Given the description of an element on the screen output the (x, y) to click on. 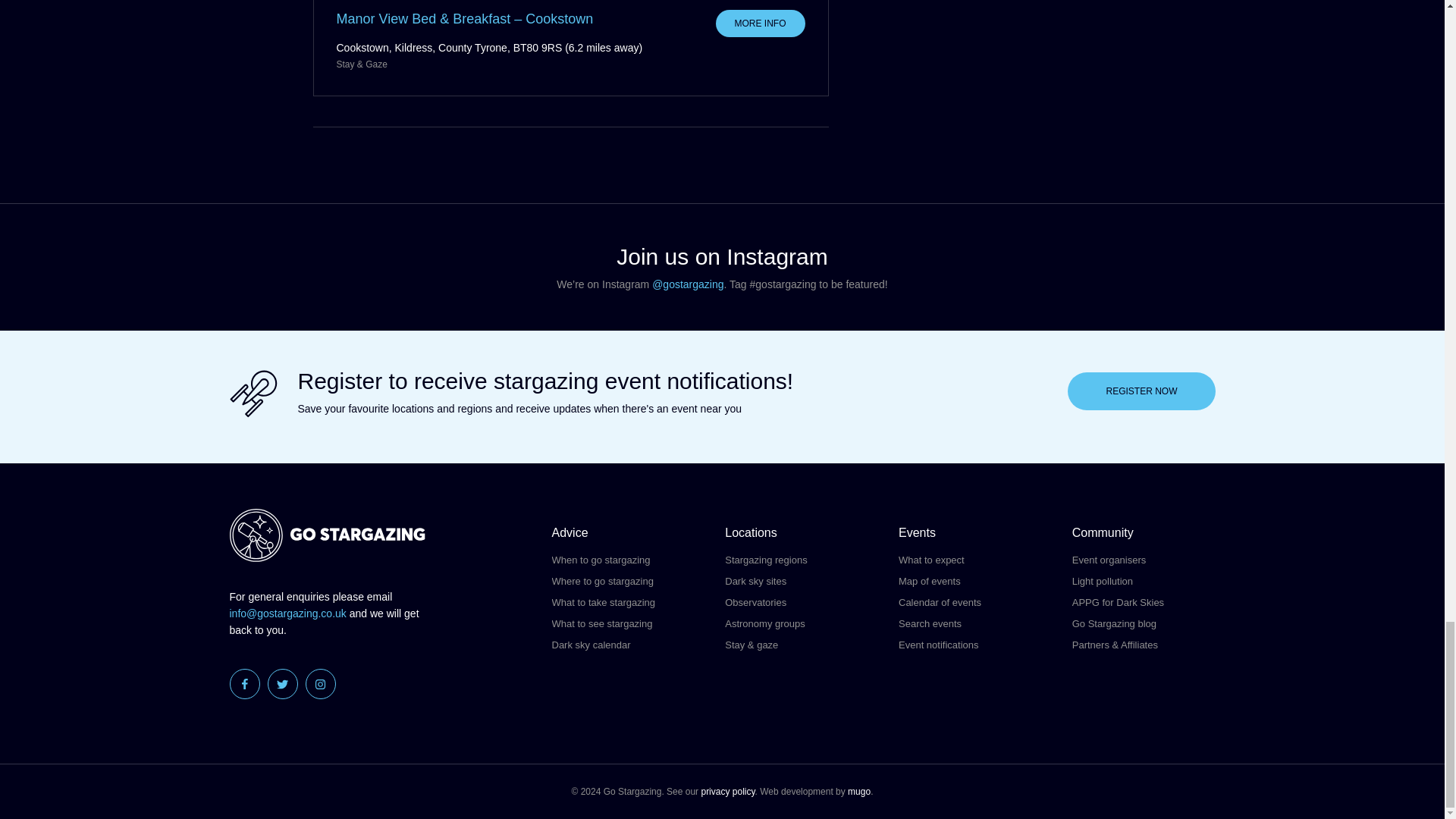
Website by Mugo Agency (858, 791)
